Given the description of an element on the screen output the (x, y) to click on. 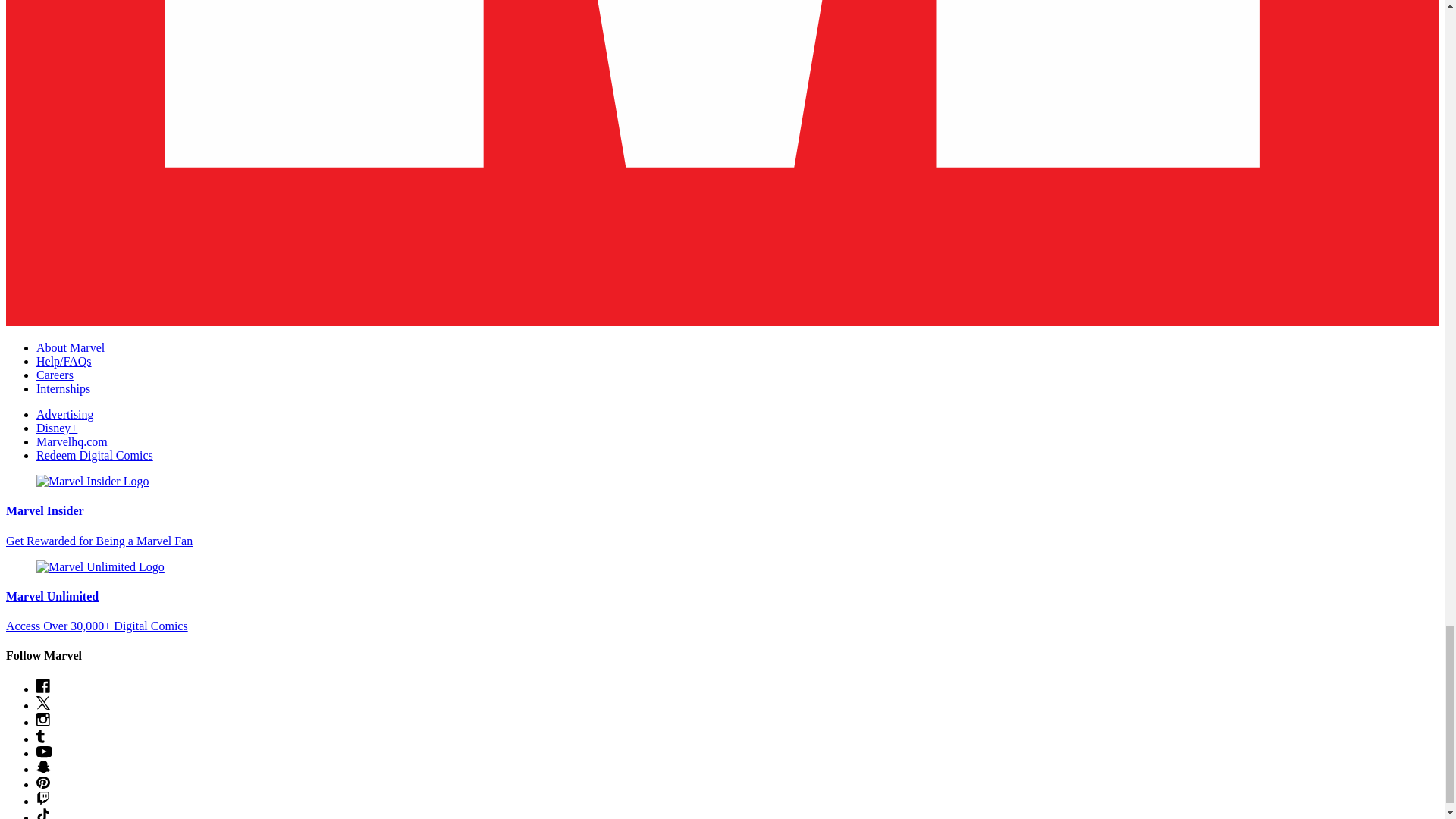
Advertising (65, 413)
Careers (55, 374)
About Marvel (70, 347)
Internships (63, 388)
